Given the description of an element on the screen output the (x, y) to click on. 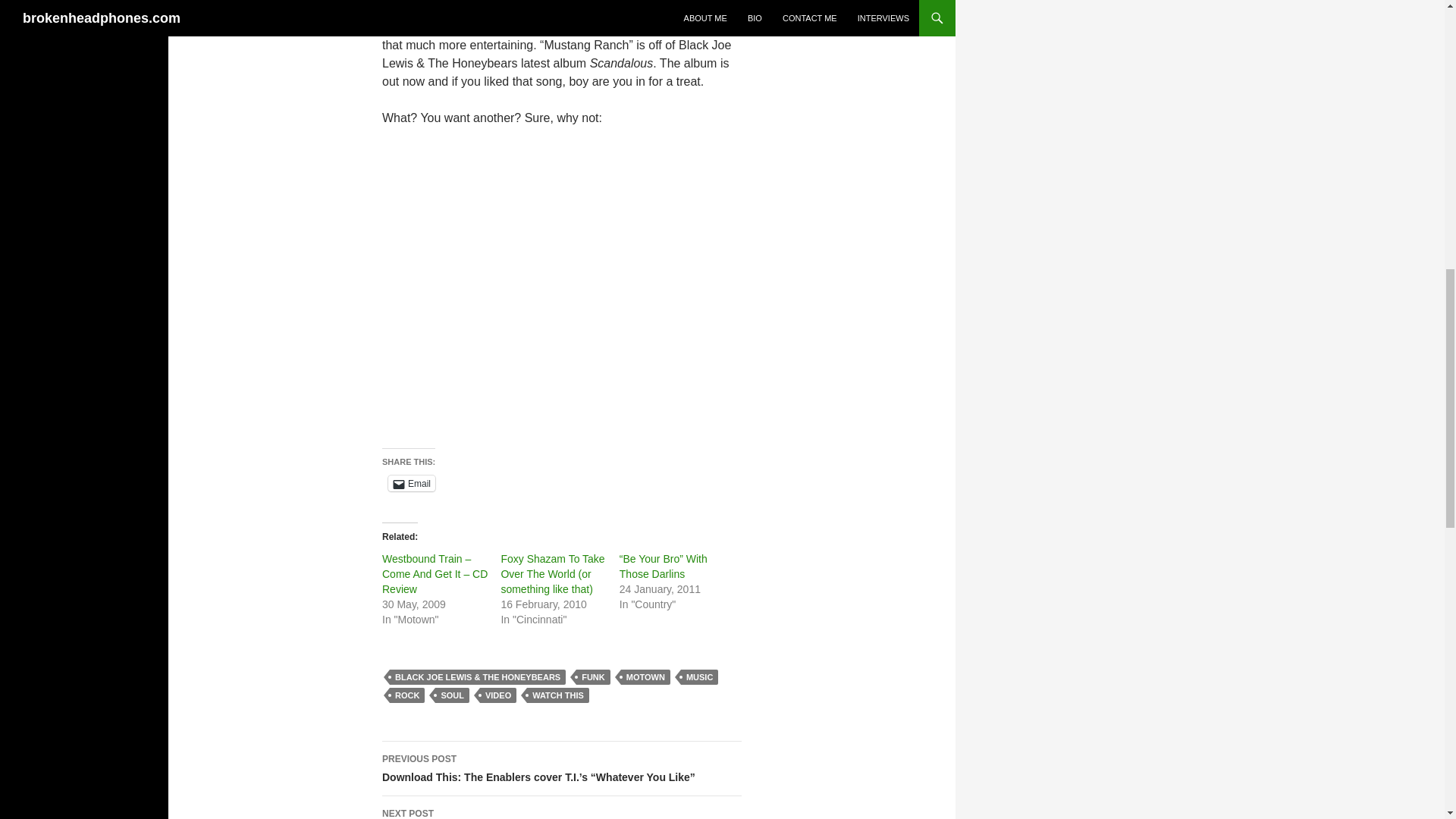
VIDEO (498, 694)
FUNK (593, 676)
MUSIC (699, 676)
ROCK (407, 694)
Email (411, 483)
Click to email a link to a friend (411, 483)
SOUL (451, 694)
WATCH THIS (558, 694)
MOTOWN (645, 676)
